Given the description of an element on the screen output the (x, y) to click on. 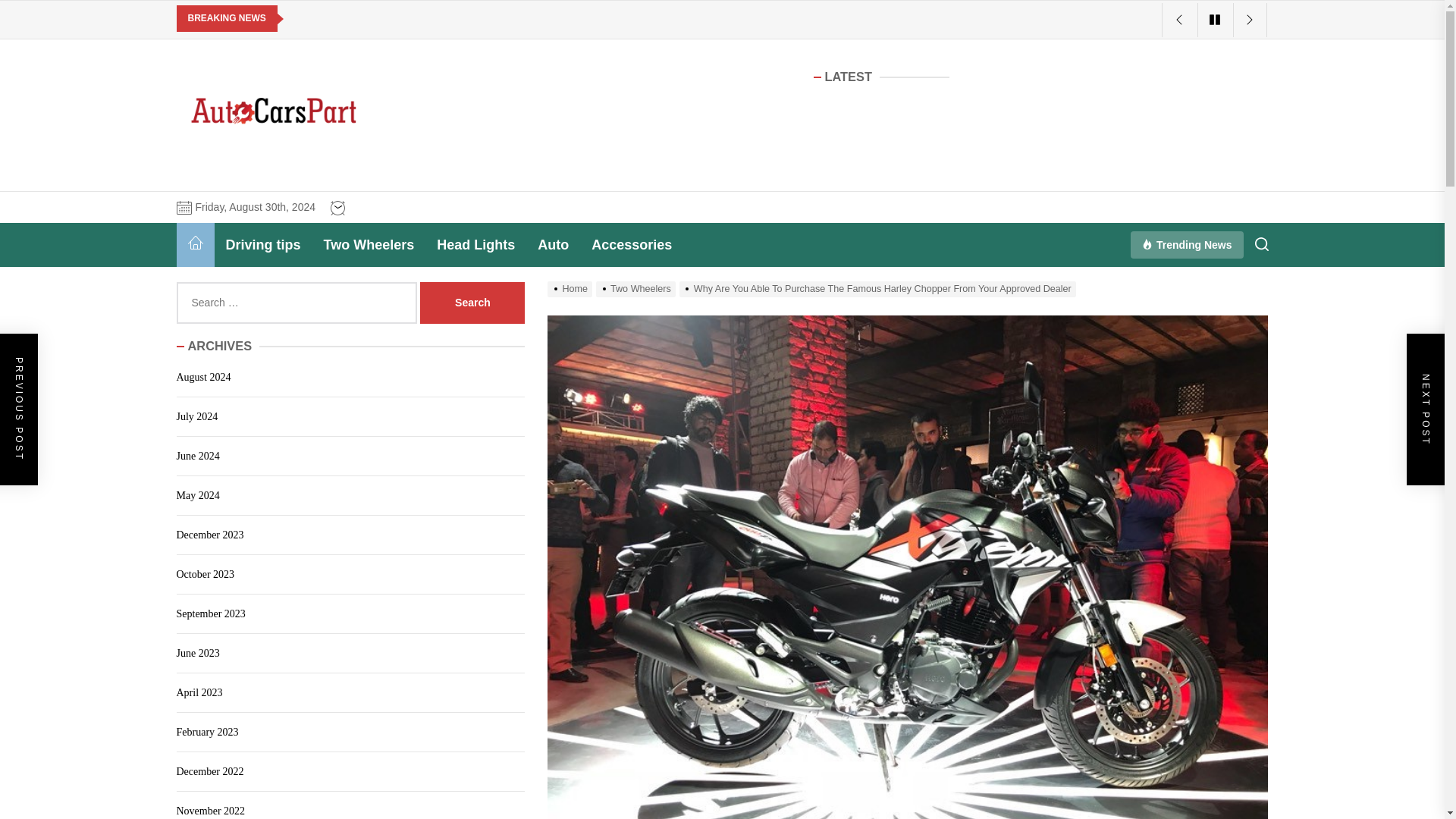
Search (472, 302)
Two Wheelers (369, 244)
Accessories (630, 244)
Auto Cars Part (295, 165)
Trending News (1186, 245)
Head Lights (475, 244)
Driving tips (262, 244)
Search (472, 302)
Auto (552, 244)
